Given the description of an element on the screen output the (x, y) to click on. 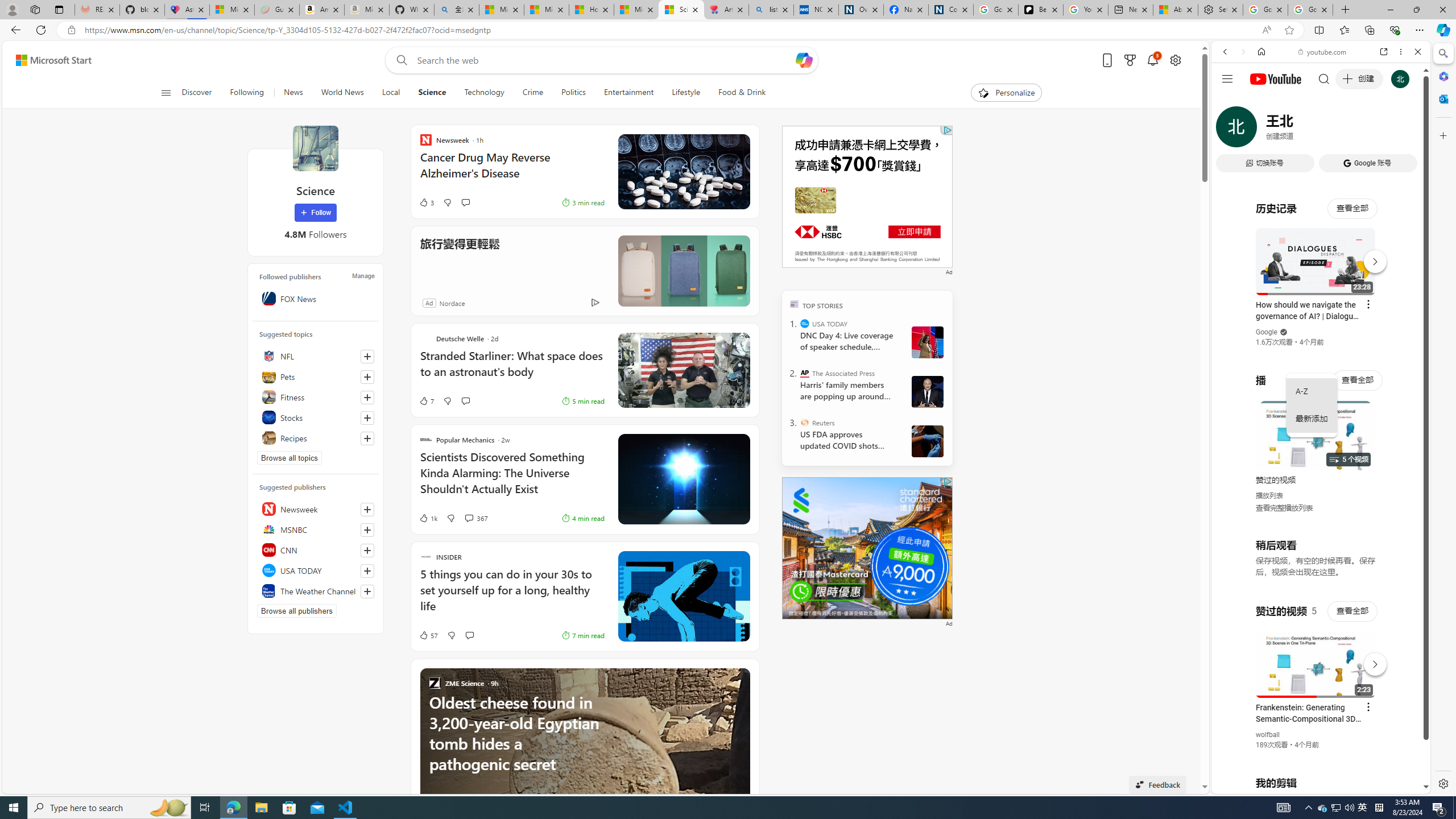
Aberdeen, Hong Kong SAR hourly forecast | Microsoft Weather (1175, 9)
Entertainment (628, 92)
Google (1266, 331)
Entertainment (627, 92)
A-Z (1311, 391)
MSNBC (315, 529)
Close Customize pane (1442, 135)
57 Like (427, 635)
Search Filter, WEB (1230, 129)
